Given the description of an element on the screen output the (x, y) to click on. 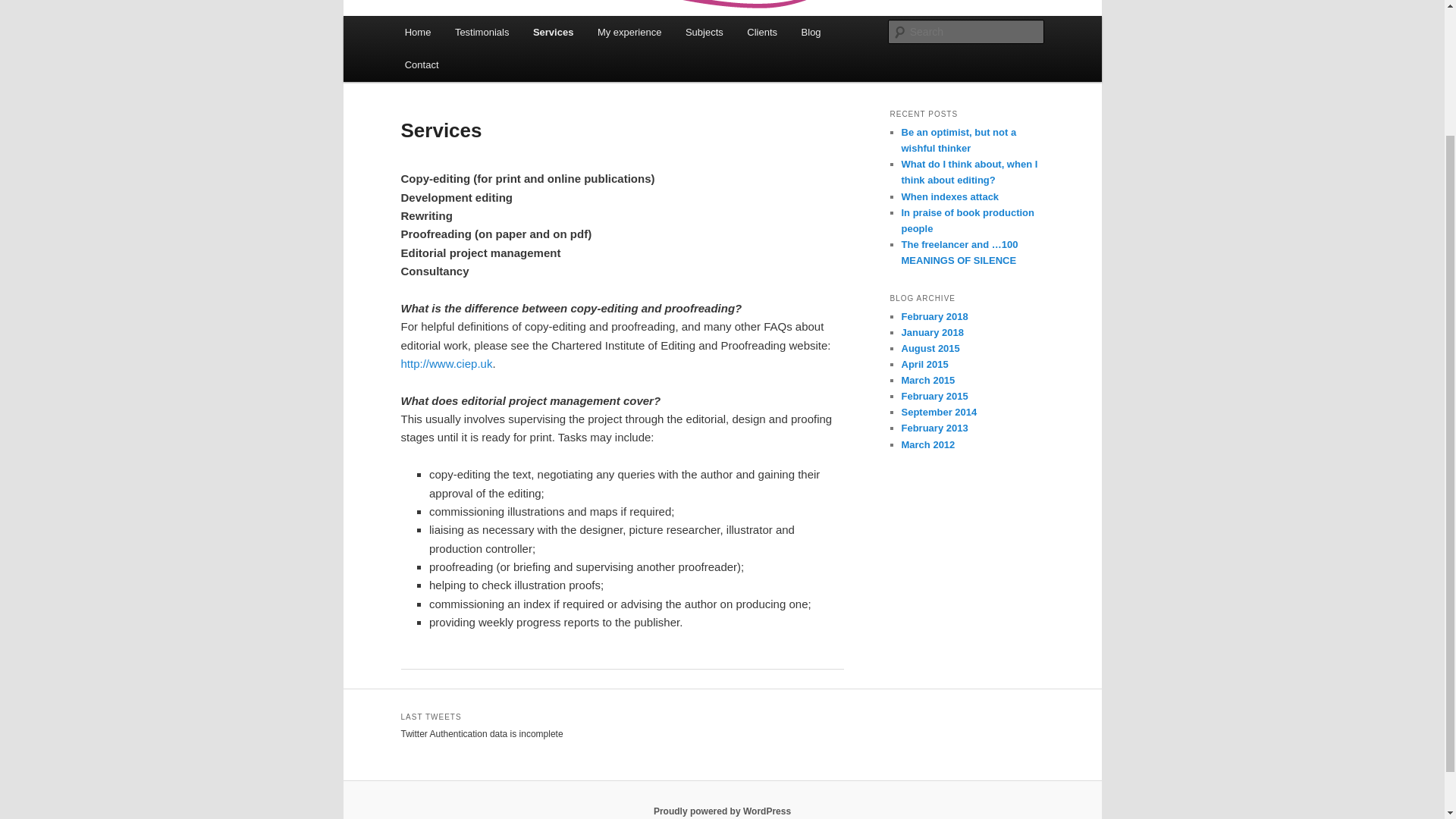
Testimonials (481, 31)
February 2018 (934, 316)
February 2015 (934, 396)
March 2015 (928, 379)
Services (553, 31)
What do I think about, when I think about editing? (968, 171)
My experience (628, 31)
Proudly powered by WordPress (721, 810)
January 2018 (931, 332)
Contact (421, 64)
